Given the description of an element on the screen output the (x, y) to click on. 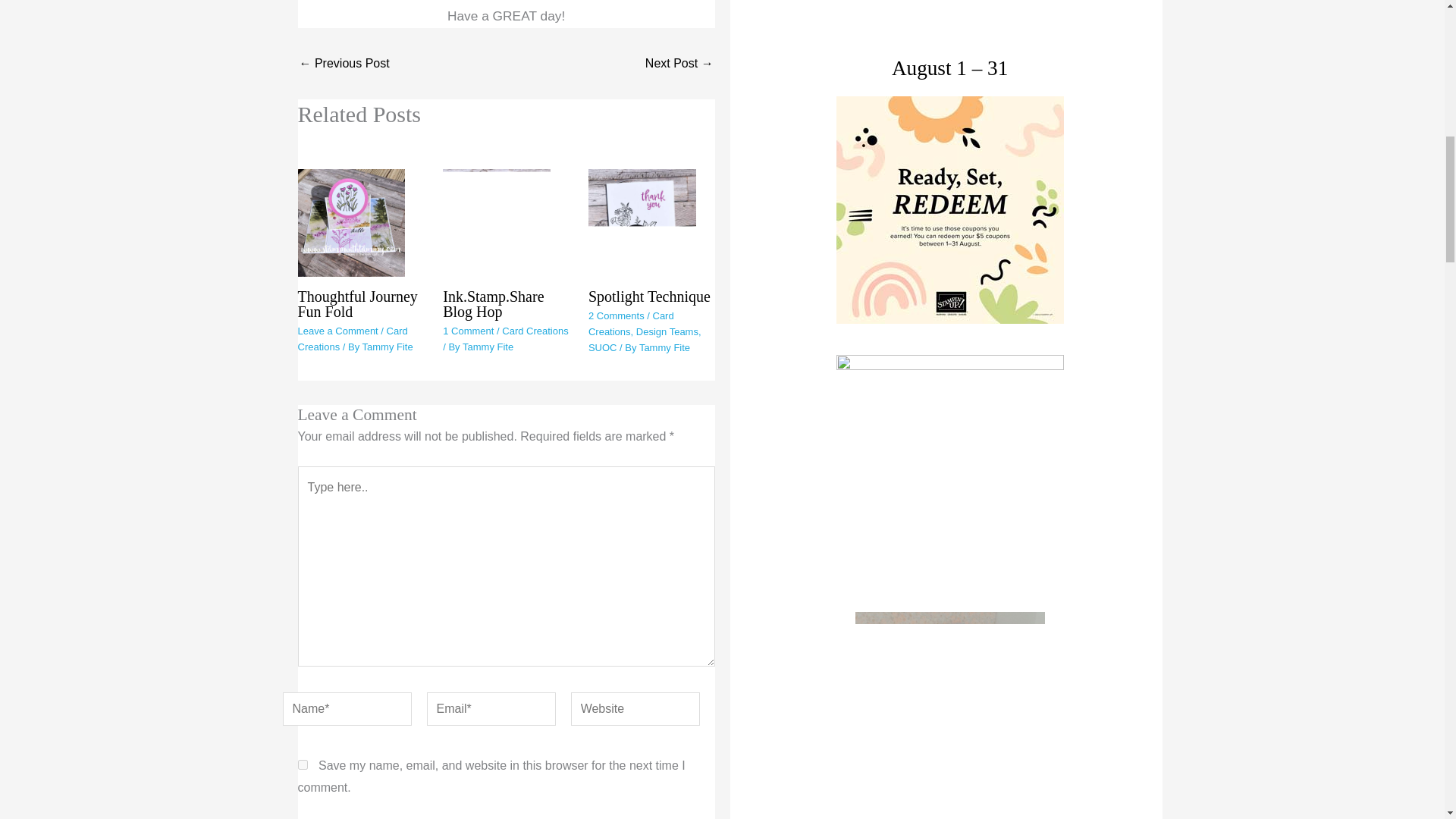
Card Creations (352, 338)
It's a Beautiful Day (343, 63)
Thoughtful Journey Fun Fold (356, 304)
yes (302, 764)
Tammy Fite (387, 346)
Ink.Stamp.Share Blog Hop (492, 304)
1 Comment (467, 330)
View all posts by Tammy Fite (387, 346)
View all posts by Tammy Fite (488, 346)
View all posts by Tammy Fite (664, 347)
